Given the description of an element on the screen output the (x, y) to click on. 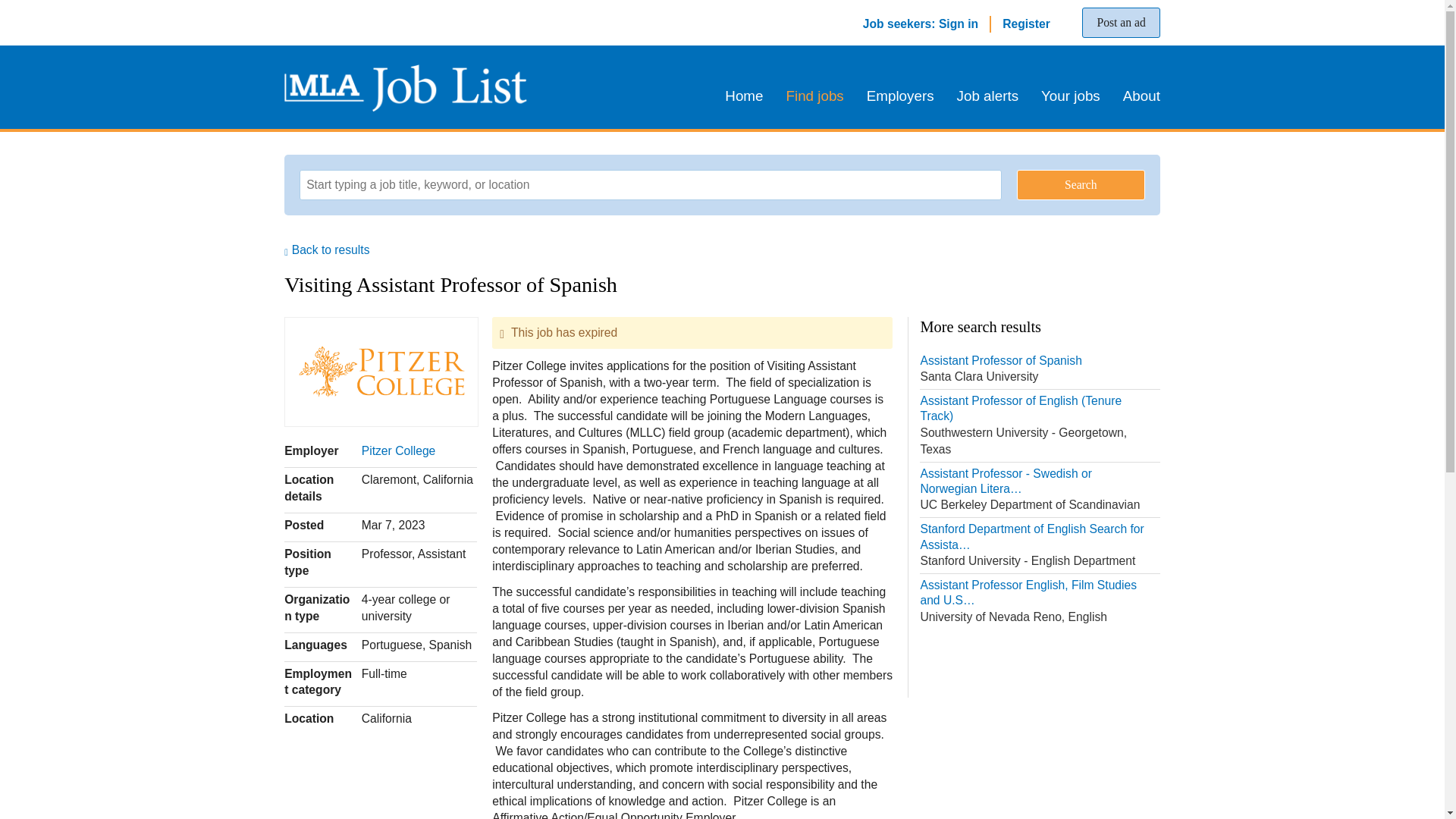
Your jobs (1070, 95)
Assistant Professor of Spanish (1039, 369)
Register (1039, 369)
Find jobs (1026, 23)
Job seekers: Sign in (814, 95)
About (920, 23)
Employers (1136, 95)
Post an ad (900, 95)
Job alerts (1119, 22)
Pitzer College (987, 95)
Back to results (398, 450)
